Given the description of an element on the screen output the (x, y) to click on. 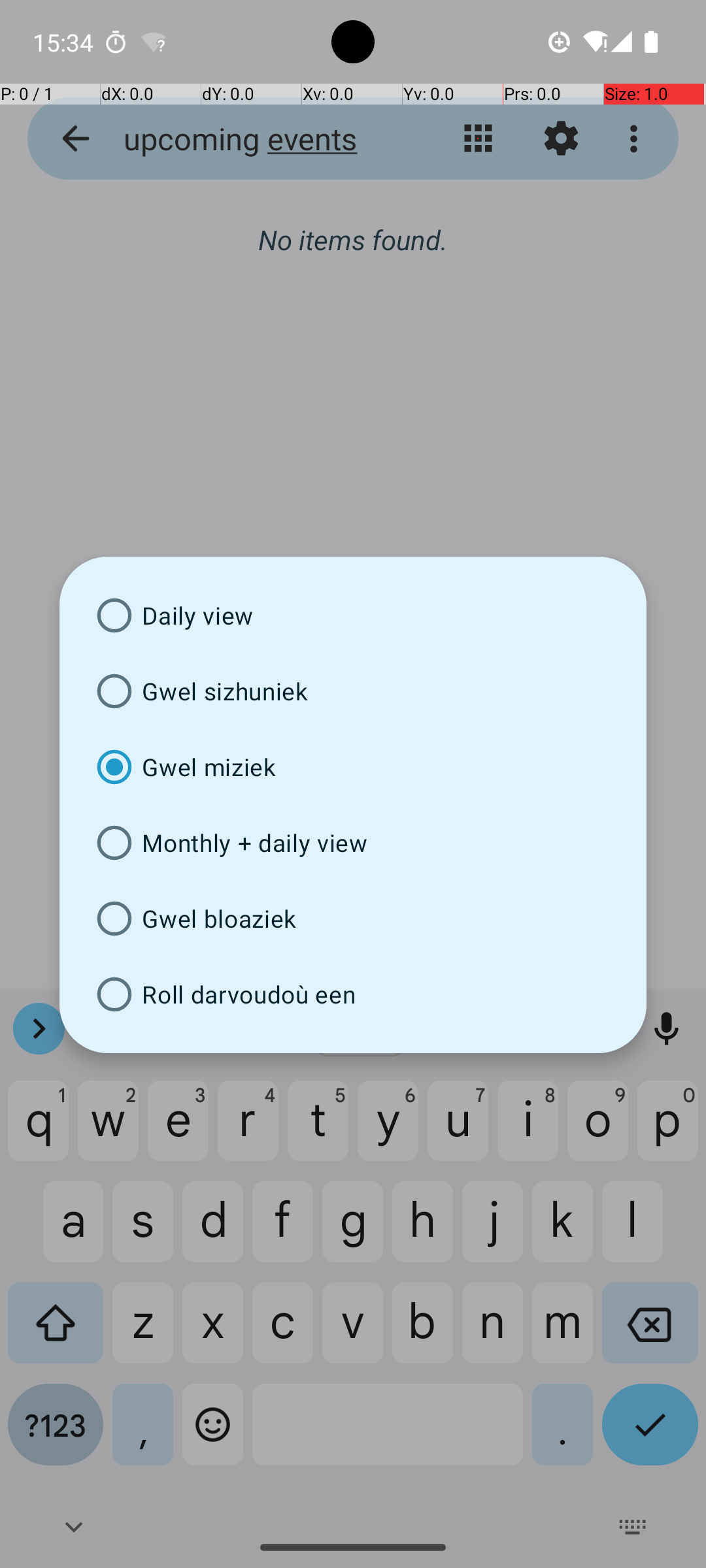
Gwel sizhuniek Element type: android.widget.RadioButton (352, 691)
Gwel miziek Element type: android.widget.RadioButton (352, 766)
Monthly + daily view Element type: android.widget.RadioButton (352, 842)
Gwel bloaziek Element type: android.widget.RadioButton (352, 918)
Roll darvoudoù een Element type: android.widget.RadioButton (352, 994)
